Given the description of an element on the screen output the (x, y) to click on. 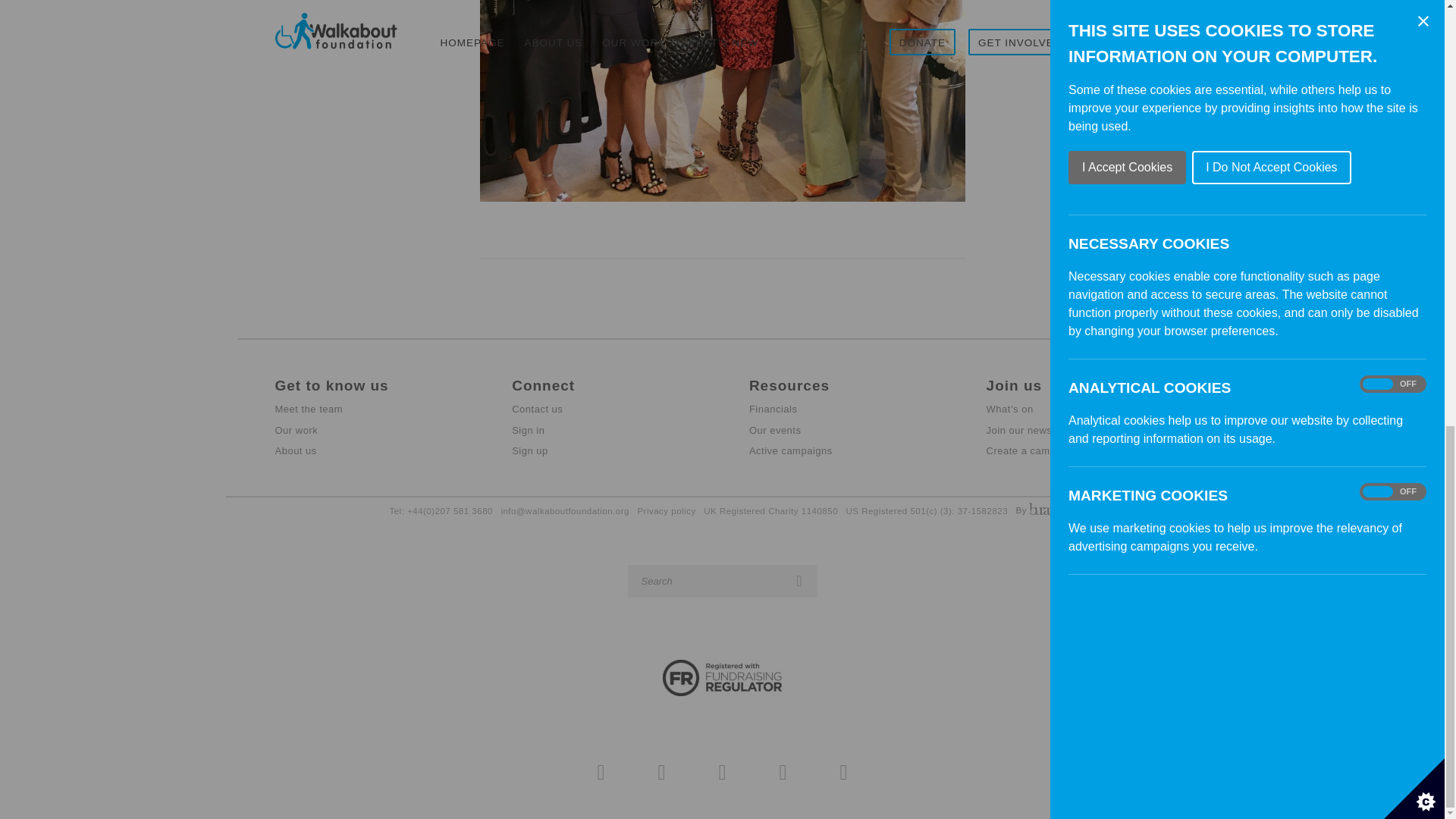
Contact us (603, 409)
Instagram (722, 772)
Facebook (600, 772)
LinkedIn (844, 772)
Our work (366, 430)
Twitter (661, 772)
About us (366, 451)
Youtube (782, 772)
Sign in (603, 430)
Meet the team (366, 409)
Website developed by Buran (1035, 508)
